Given the description of an element on the screen output the (x, y) to click on. 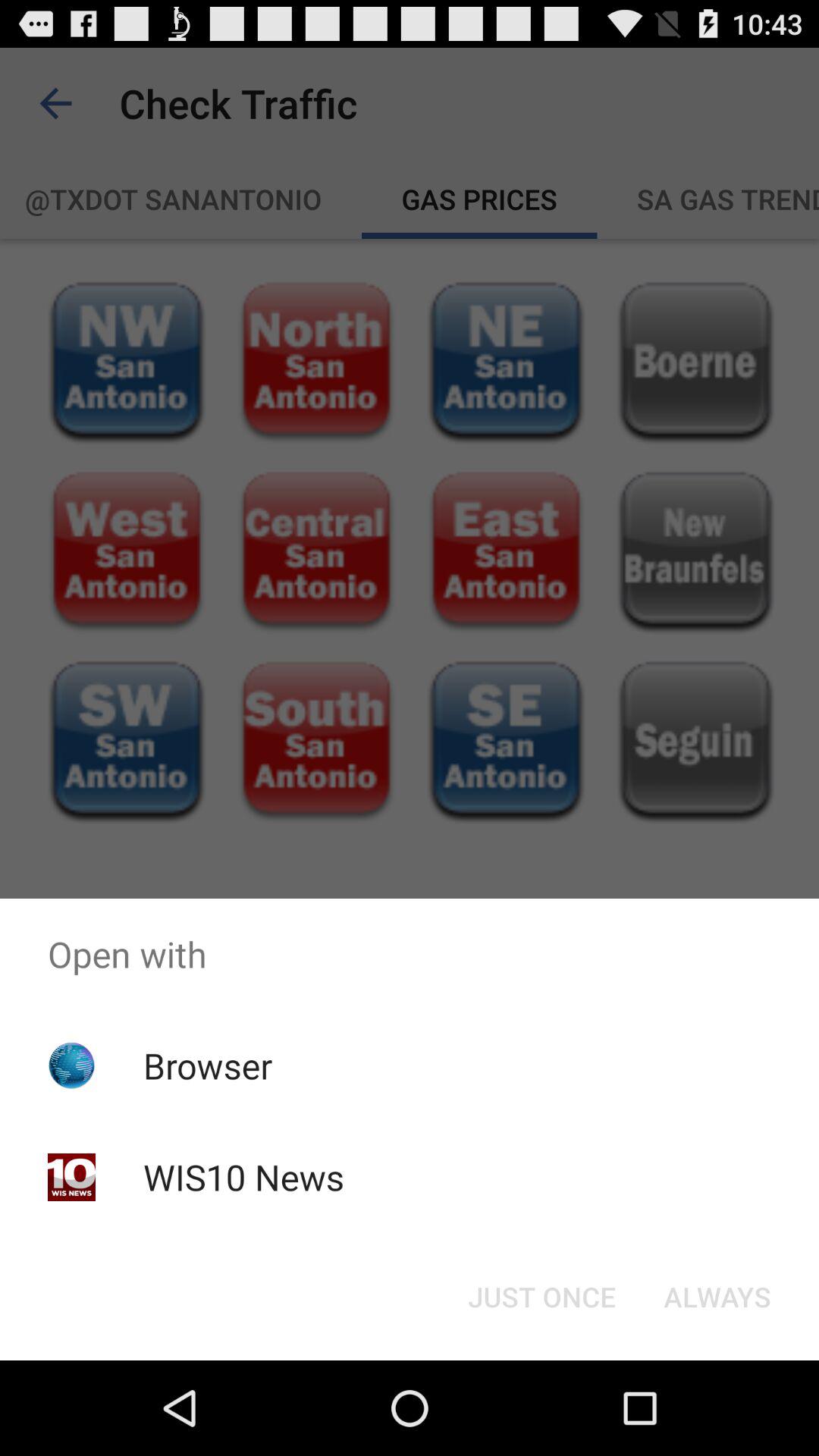
select the always button (717, 1296)
